Given the description of an element on the screen output the (x, y) to click on. 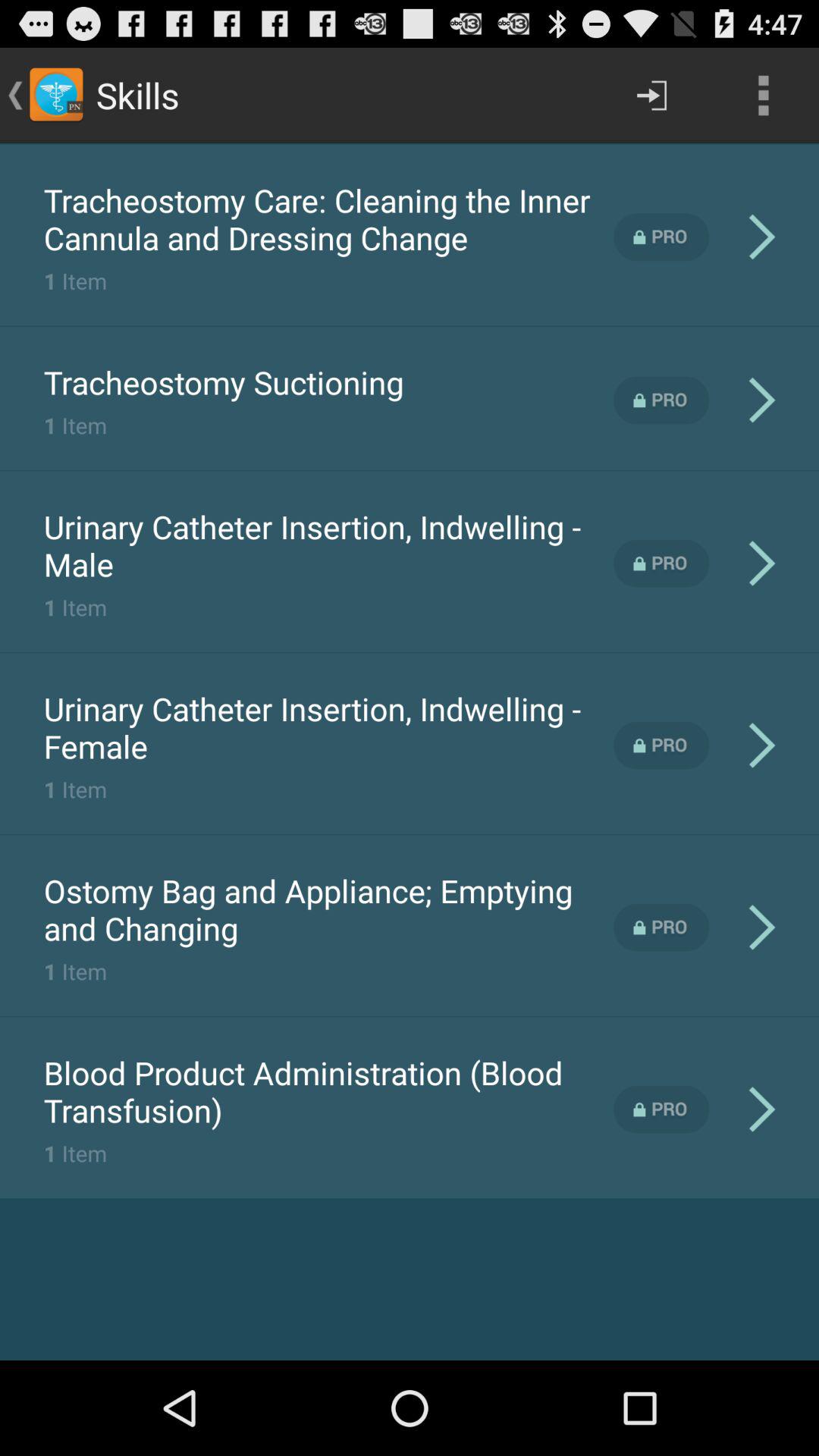
click to upgrade to pro to unlock (661, 563)
